Given the description of an element on the screen output the (x, y) to click on. 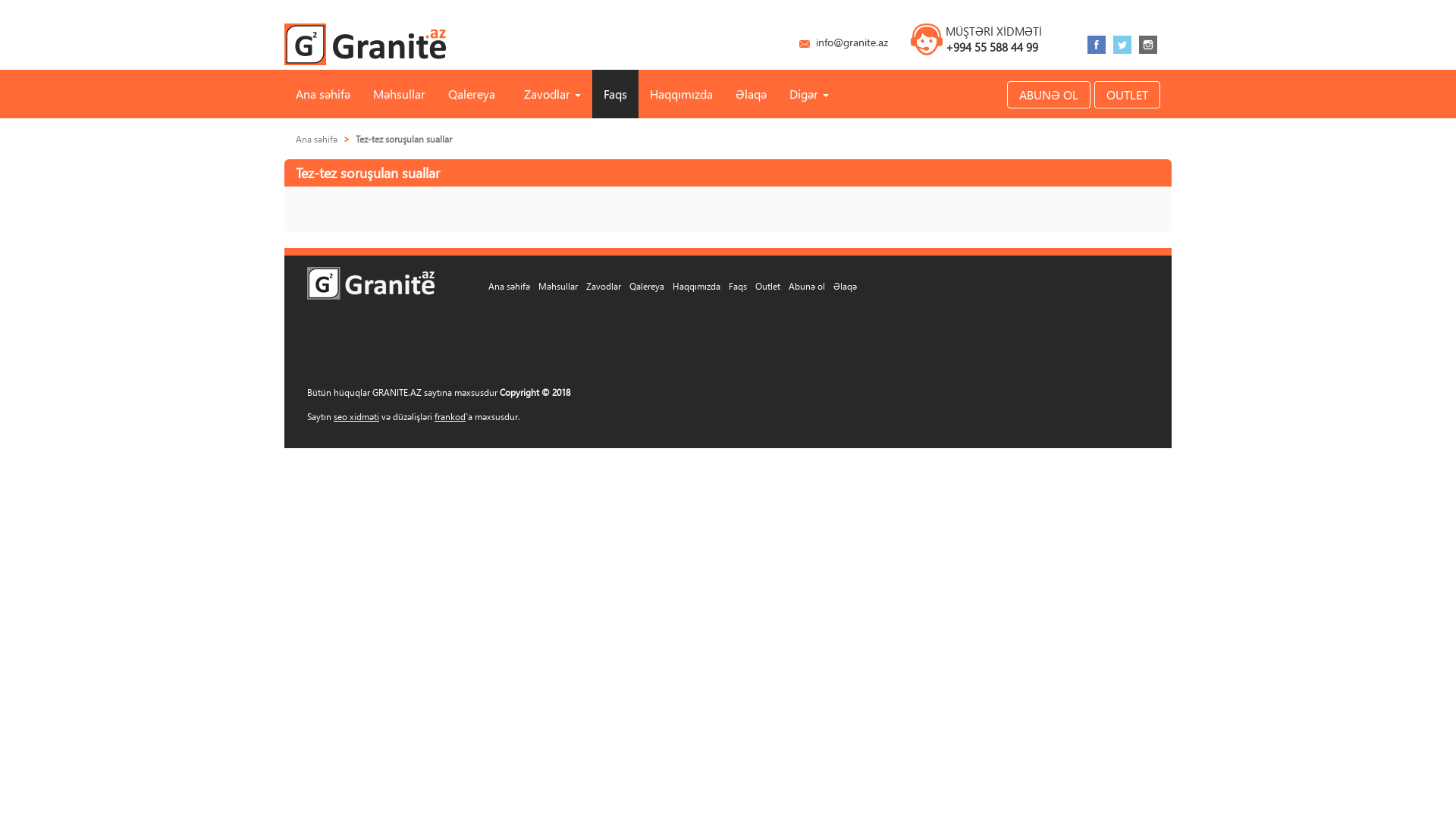
Qalereya Element type: text (646, 285)
Faqs Element type: text (737, 285)
Faqs Element type: text (615, 93)
Zavodlar Element type: text (603, 285)
  Zavodlar Element type: text (549, 93)
Qalereya Element type: text (471, 93)
OUTLET Element type: text (1127, 94)
LiveInternet: number of visitors and pageviews is shown Element type: hover (1115, 319)
Outlet Element type: text (767, 285)
frankod Element type: text (449, 416)
